Given the description of an element on the screen output the (x, y) to click on. 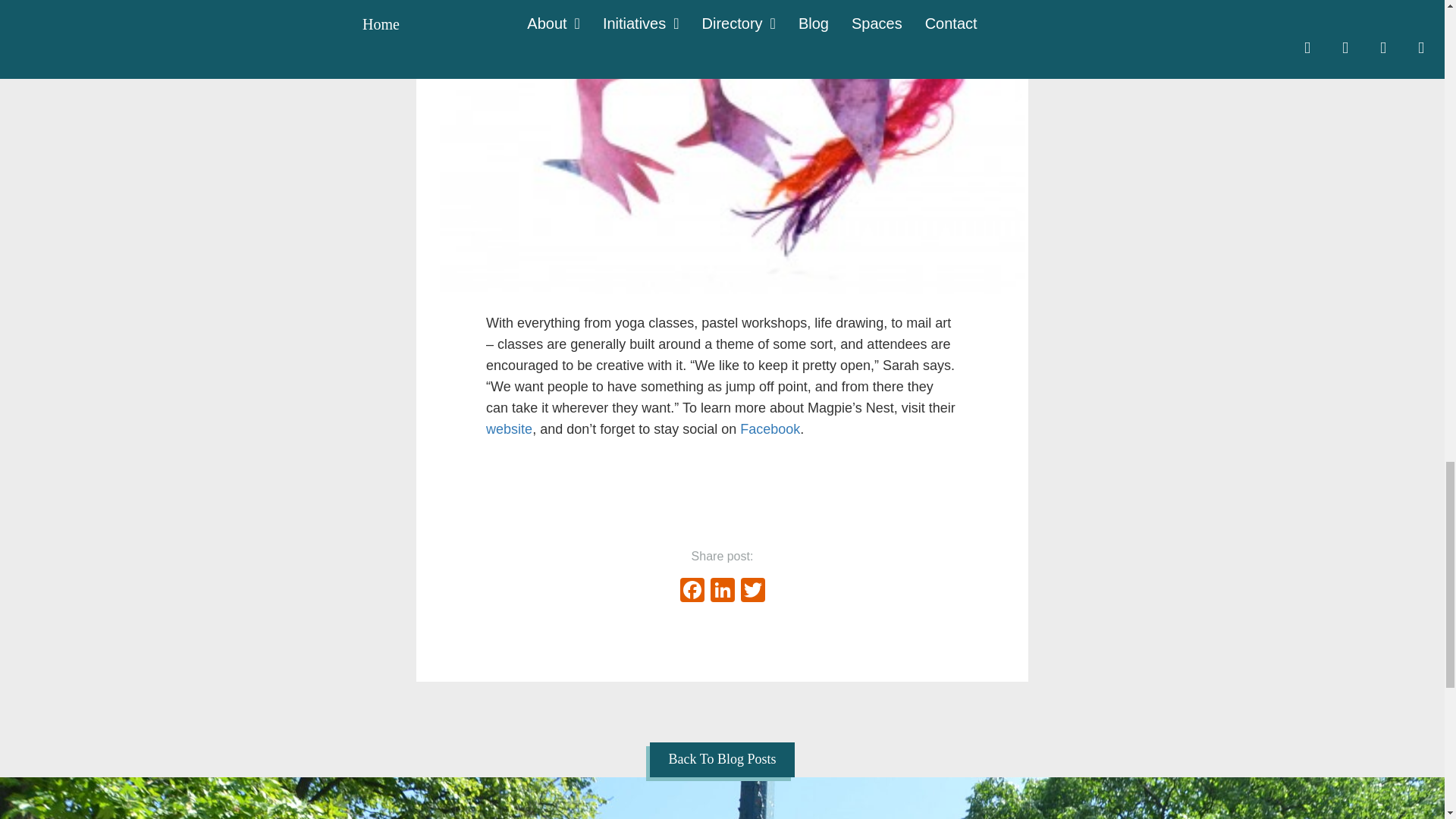
Twitter (751, 592)
LinkedIn (721, 592)
Facebook (691, 592)
